Given the description of an element on the screen output the (x, y) to click on. 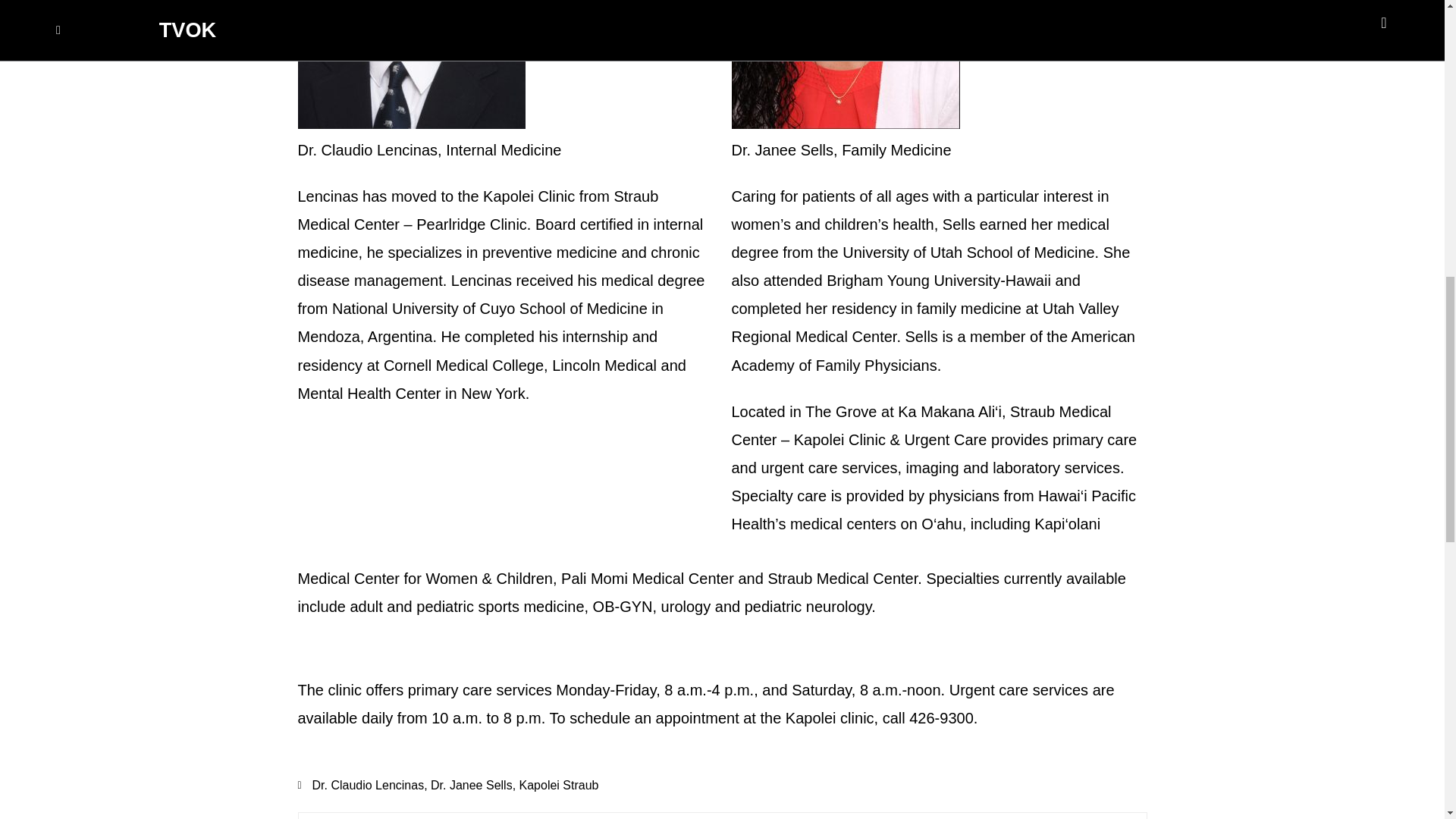
Kapolei Straub (558, 784)
Dr. Janee Sells (471, 784)
Dr. Claudio Lencinas (369, 784)
